Given the description of an element on the screen output the (x, y) to click on. 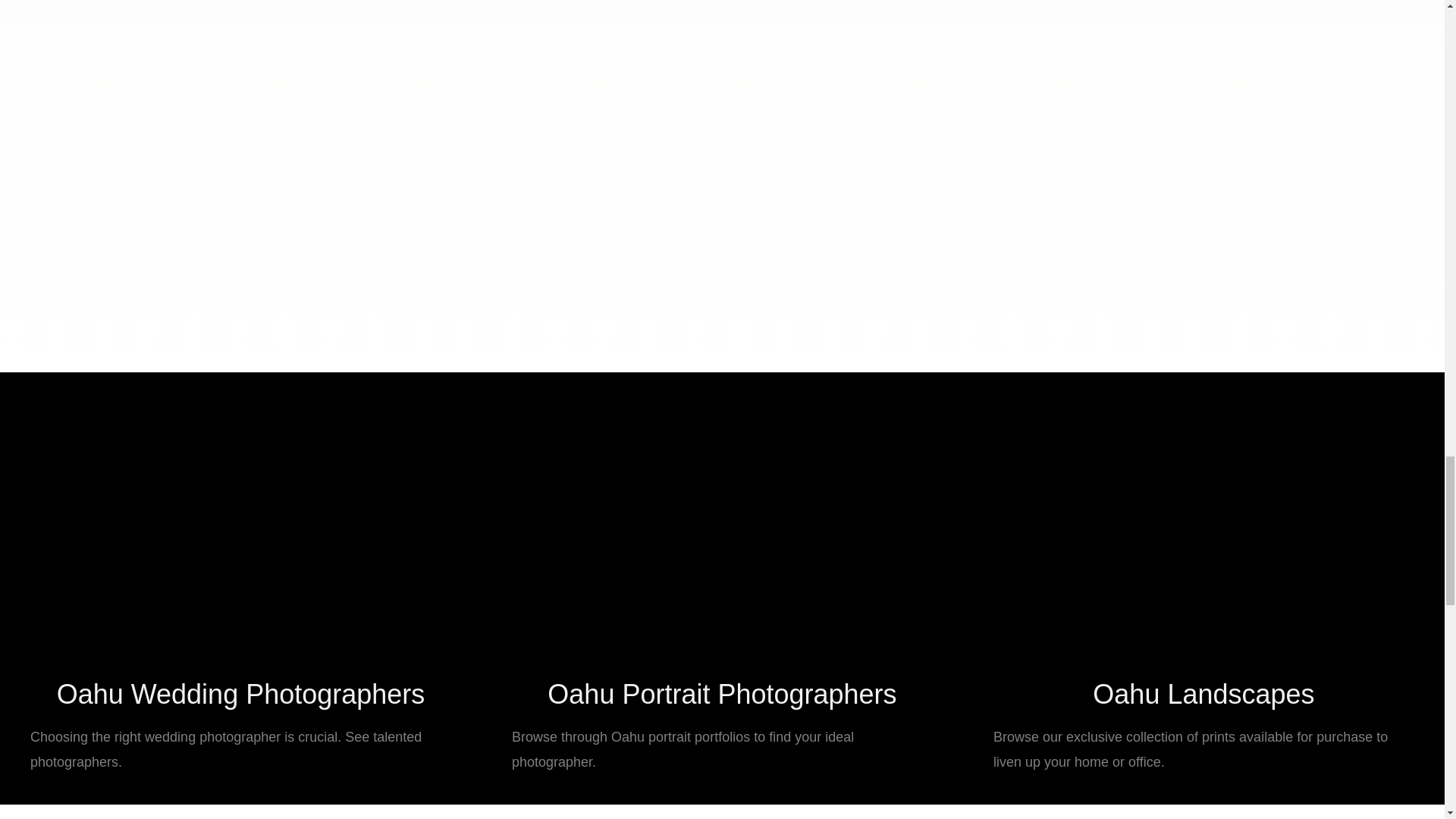
Oahu Portrait Photographers (721, 694)
Oahu Landscapes (1203, 694)
Oahu Wedding Photographers (240, 694)
